Given the description of an element on the screen output the (x, y) to click on. 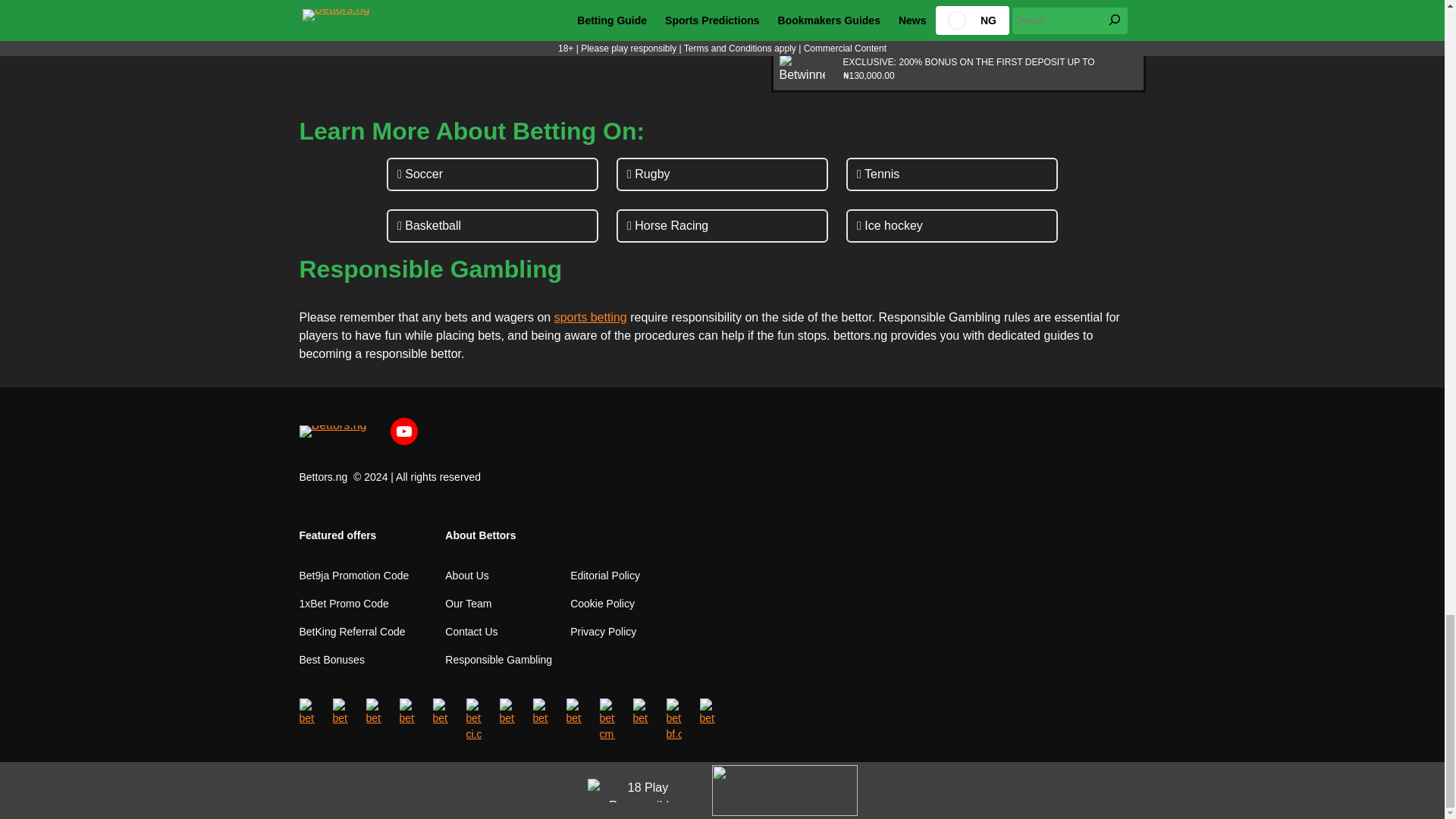
BetKing (801, 3)
22Bet (801, 30)
Betwinner (801, 69)
18 Play Responsibly (640, 790)
